Given the description of an element on the screen output the (x, y) to click on. 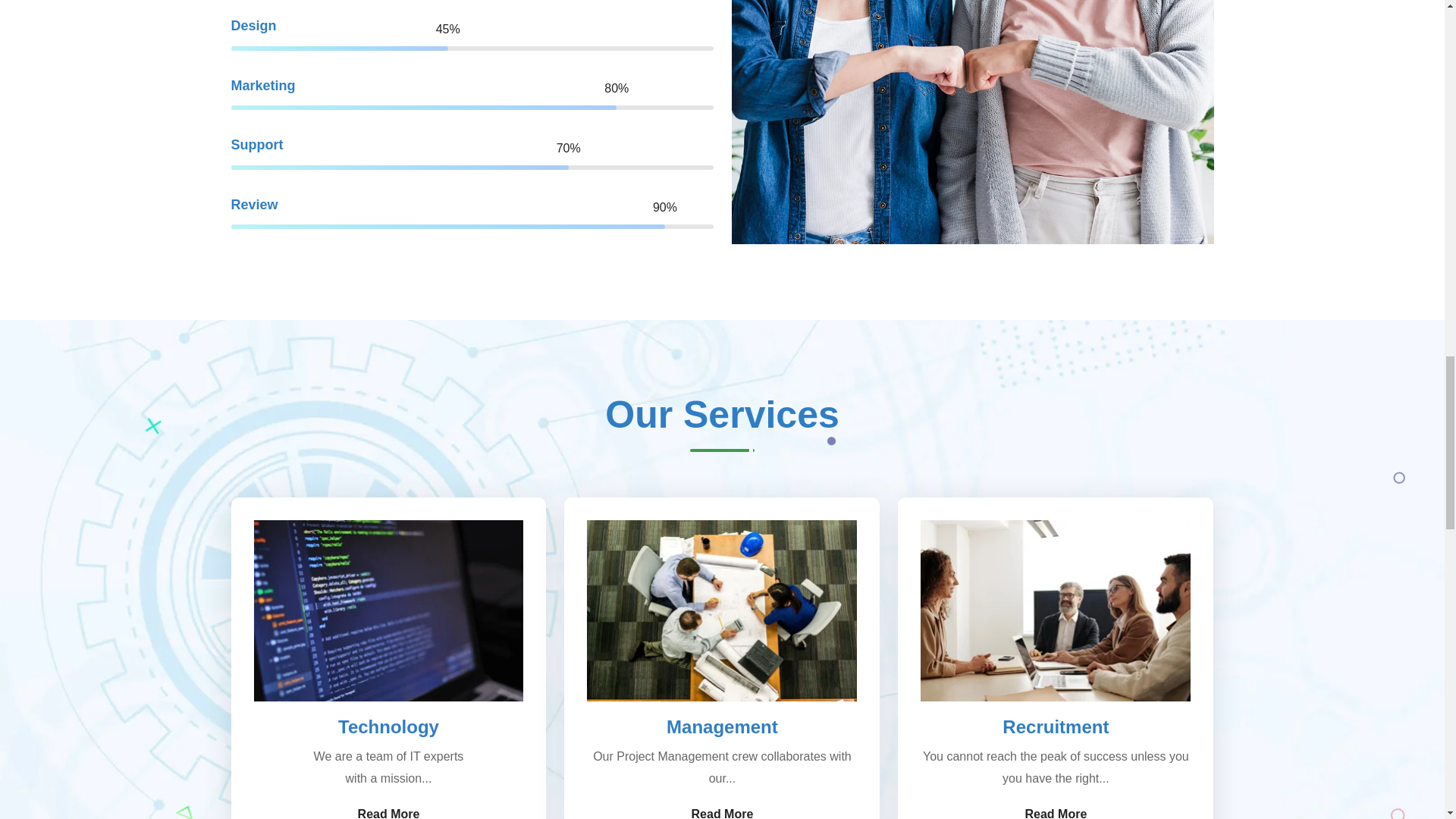
Read More (389, 812)
